Given the description of an element on the screen output the (x, y) to click on. 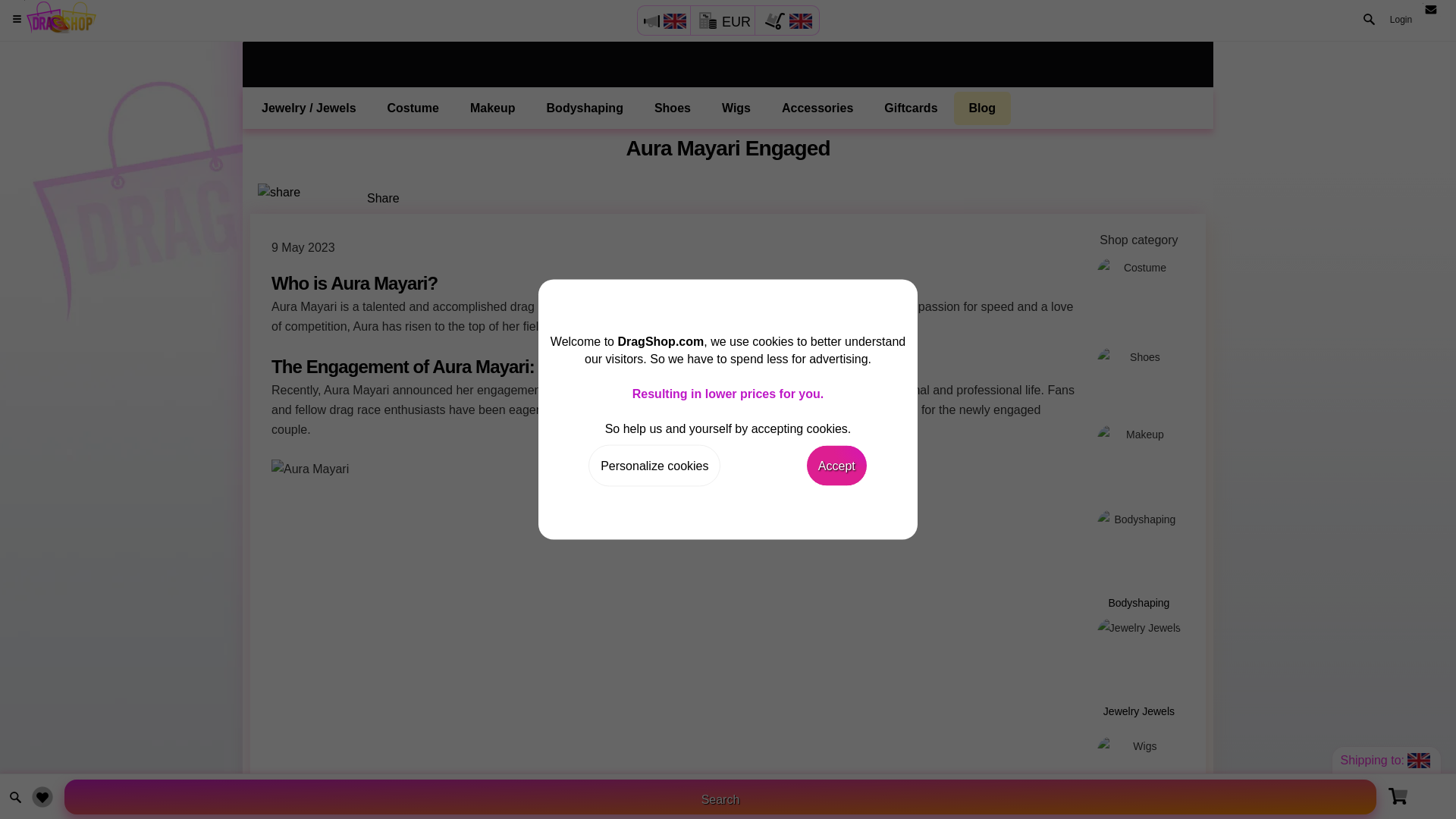
Drag Queen Shoes (672, 108)
Drag Queen Bodyshaping (1138, 555)
Drag Queen Blog (982, 108)
Makeup (1138, 459)
Costume (1138, 294)
Shoes (672, 108)
Drag Queen Wigs (1138, 763)
Drag Queen Costume (1138, 294)
Drag Queen Makeup (492, 108)
Drag Queen Makeup (1138, 459)
Drag Queen Shoes (1138, 378)
Accessories (817, 108)
Makeup (492, 108)
Costume (413, 108)
Drag Queen Costume (413, 108)
